Given the description of an element on the screen output the (x, y) to click on. 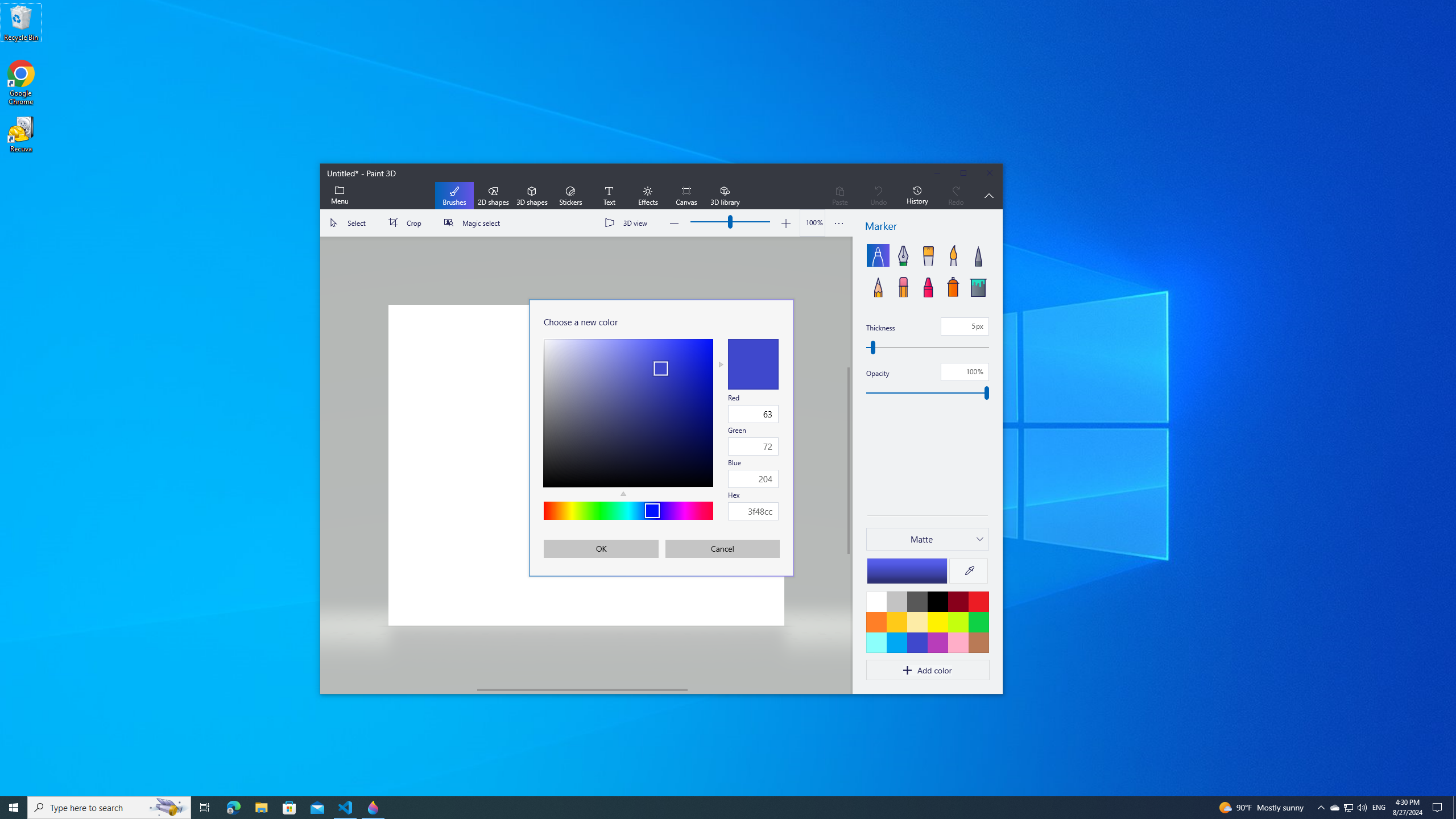
Type here to search (108, 807)
Recycle Bin (21, 22)
Notification Chevron (1320, 807)
Action Center, No new notifications (1439, 807)
Start (13, 807)
Tray Input Indicator - English (United States) (1378, 807)
Visual Studio Code - 1 running window (345, 807)
Microsoft Store (1347, 807)
Search highlights icon opens search home window (289, 807)
Q2790: 100% (167, 807)
Microsoft Edge (1361, 807)
Show desktop (233, 807)
Running applications (1454, 807)
